Given the description of an element on the screen output the (x, y) to click on. 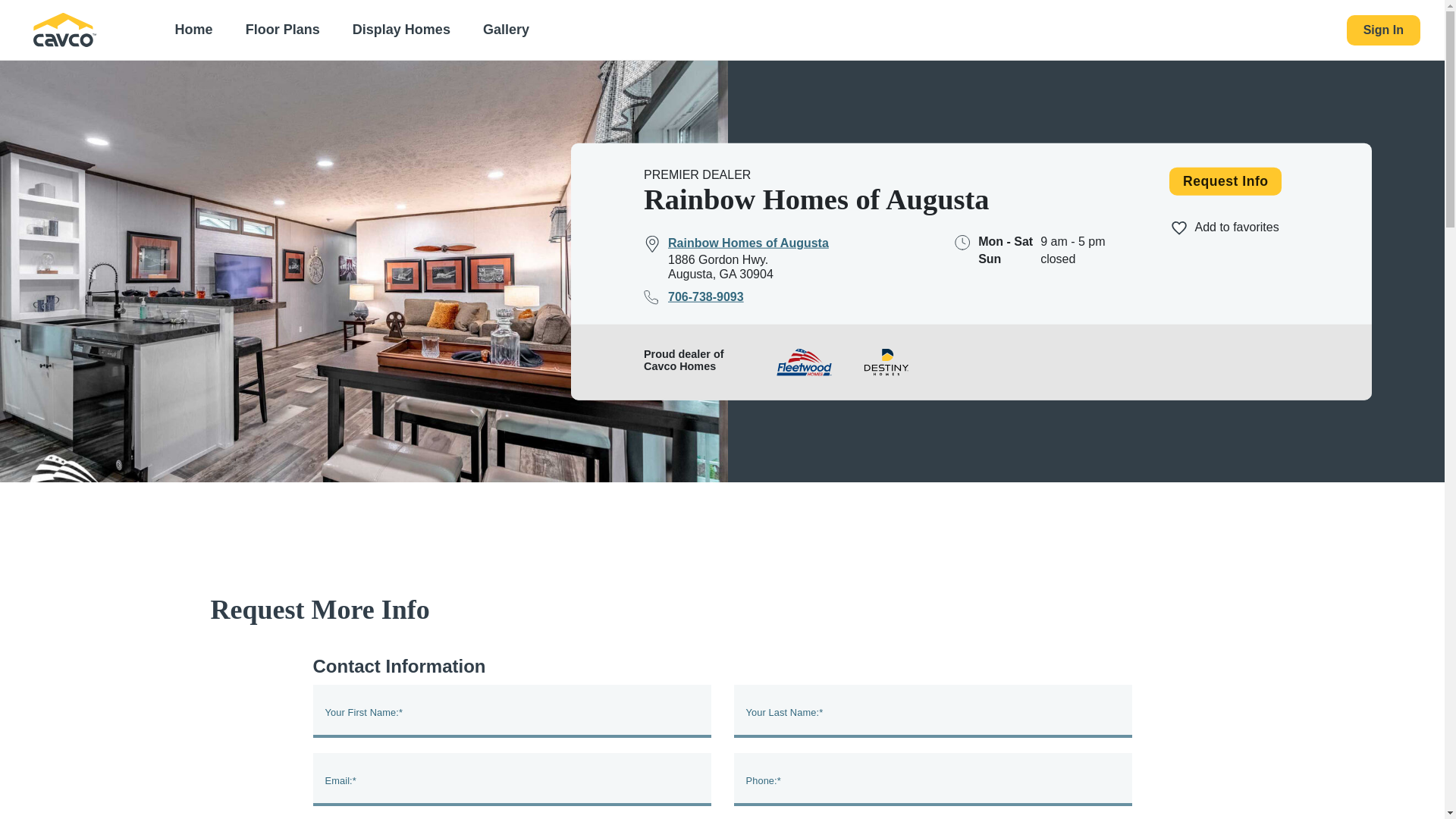
Request Info (1225, 181)
Gallery (505, 29)
706-738-9093 (693, 295)
Display Homes (401, 29)
Home (192, 29)
Sign In (1383, 30)
Floor Plans (282, 29)
Rainbow Homes of Augusta (735, 242)
